Given the description of an element on the screen output the (x, y) to click on. 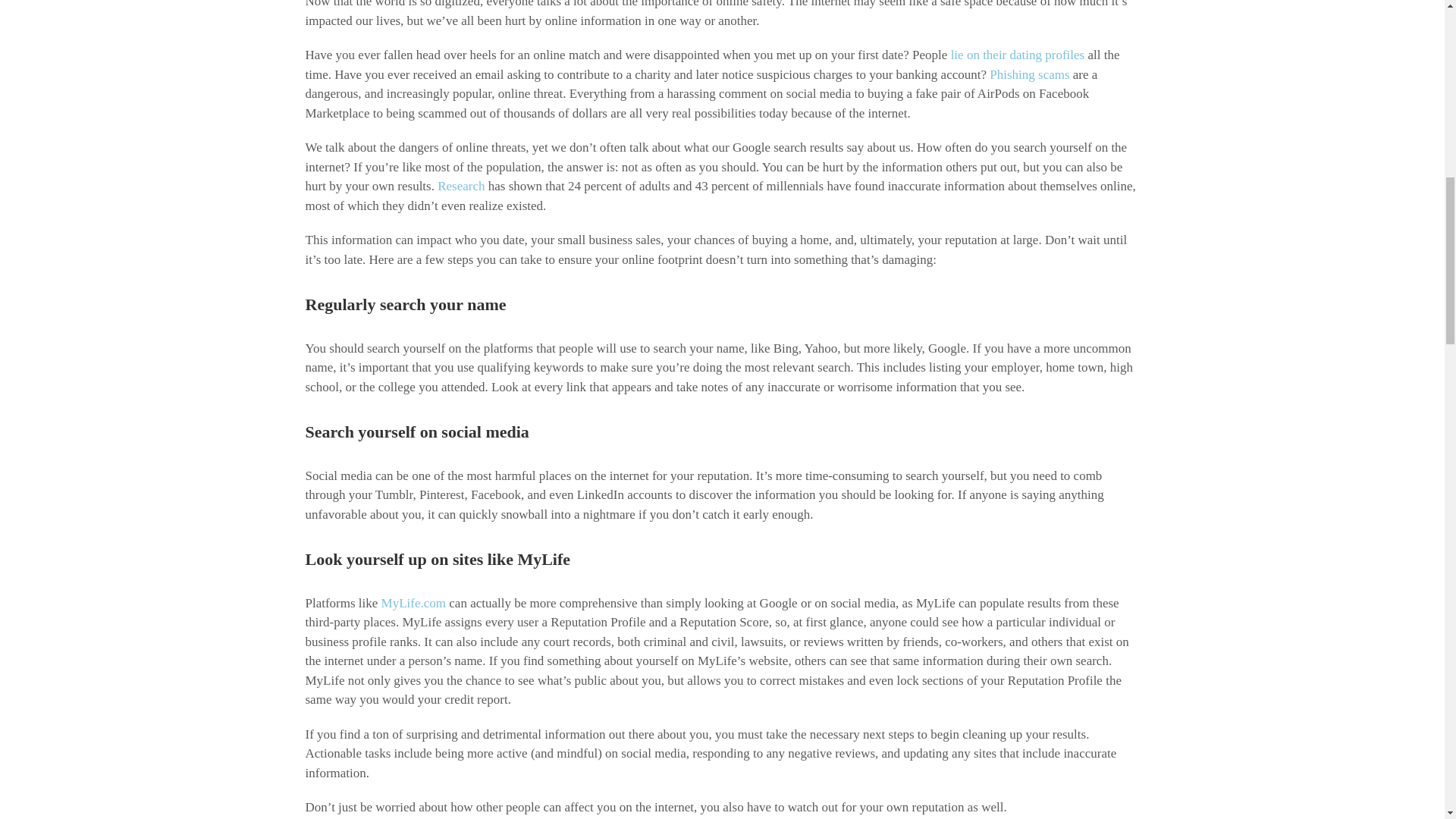
Research (461, 186)
Phishing scams (1029, 74)
lie on their dating profiles (1017, 54)
MyLife.com (413, 603)
